Given the description of an element on the screen output the (x, y) to click on. 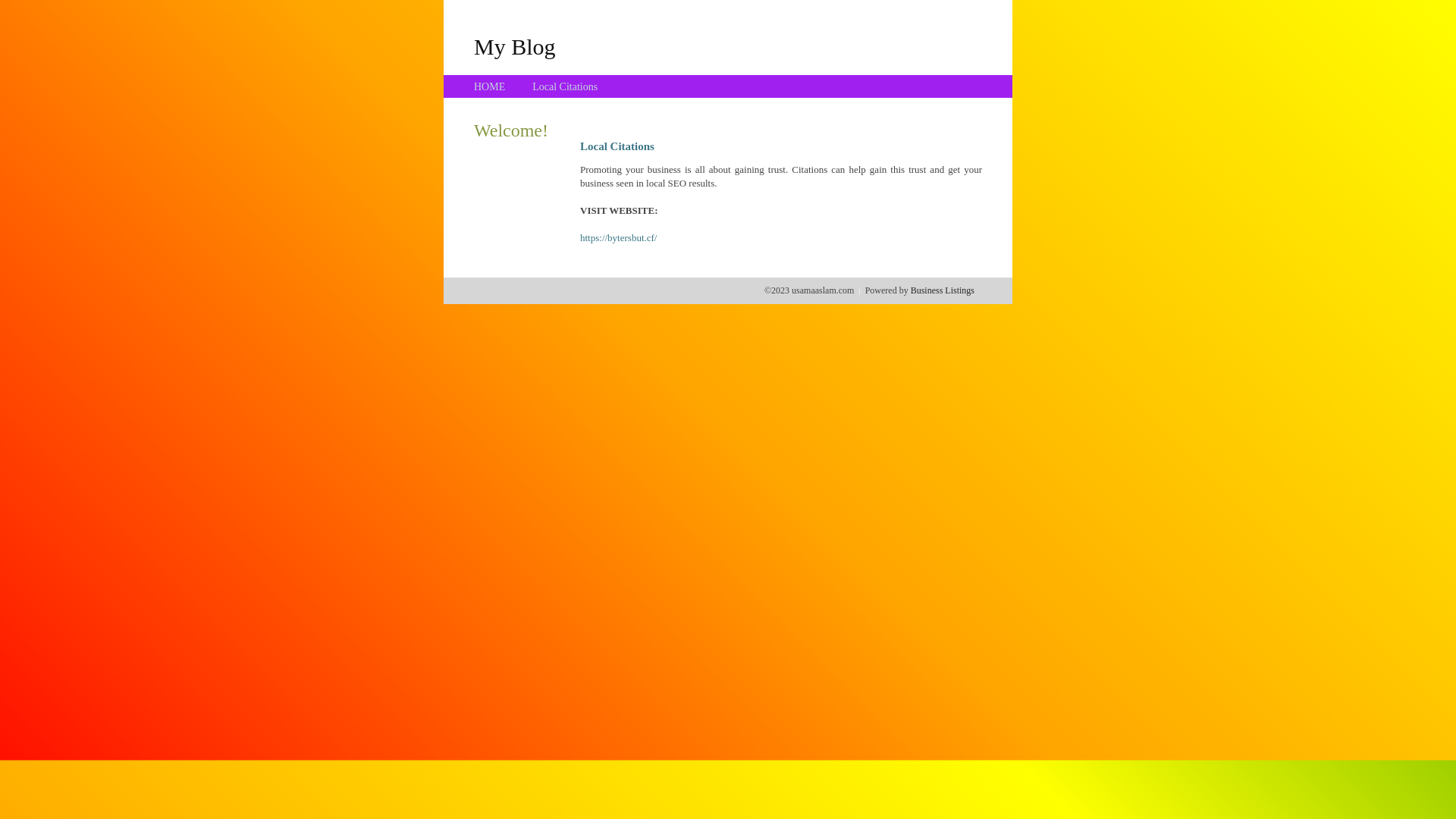
Business Listings Element type: text (942, 290)
Local Citations Element type: text (564, 86)
https://bytersbut.cf/ Element type: text (618, 237)
HOME Element type: text (489, 86)
My Blog Element type: text (514, 46)
